Given the description of an element on the screen output the (x, y) to click on. 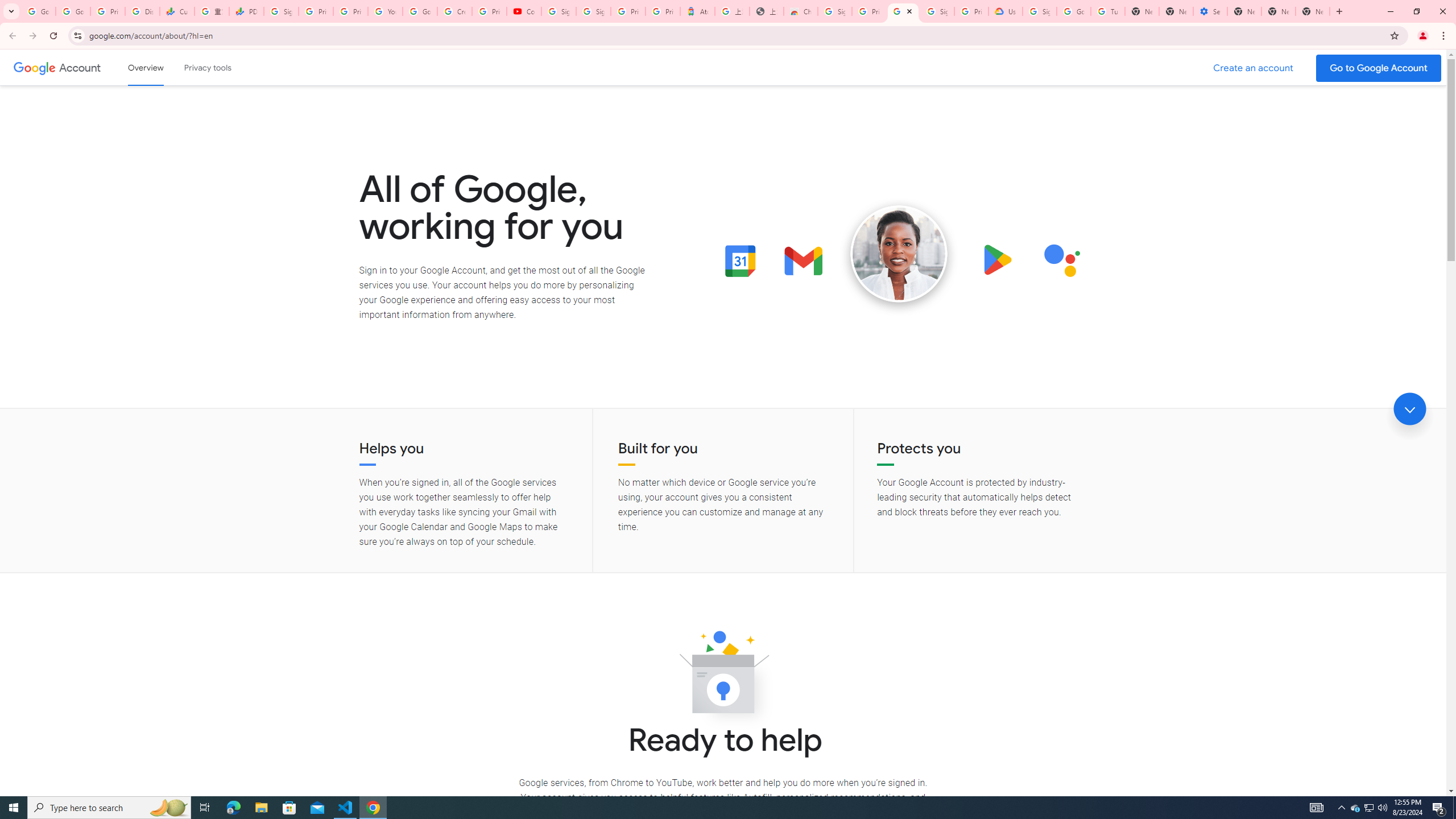
Sign in - Google Accounts (834, 11)
Sign in - Google Accounts (1039, 11)
New Tab (1312, 11)
Privacy tools (207, 67)
Google Workspace Admin Community (38, 11)
Privacy Checkup (349, 11)
Turn cookies on or off - Computer - Google Account Help (1107, 11)
Create a Google Account (1253, 67)
